Given the description of an element on the screen output the (x, y) to click on. 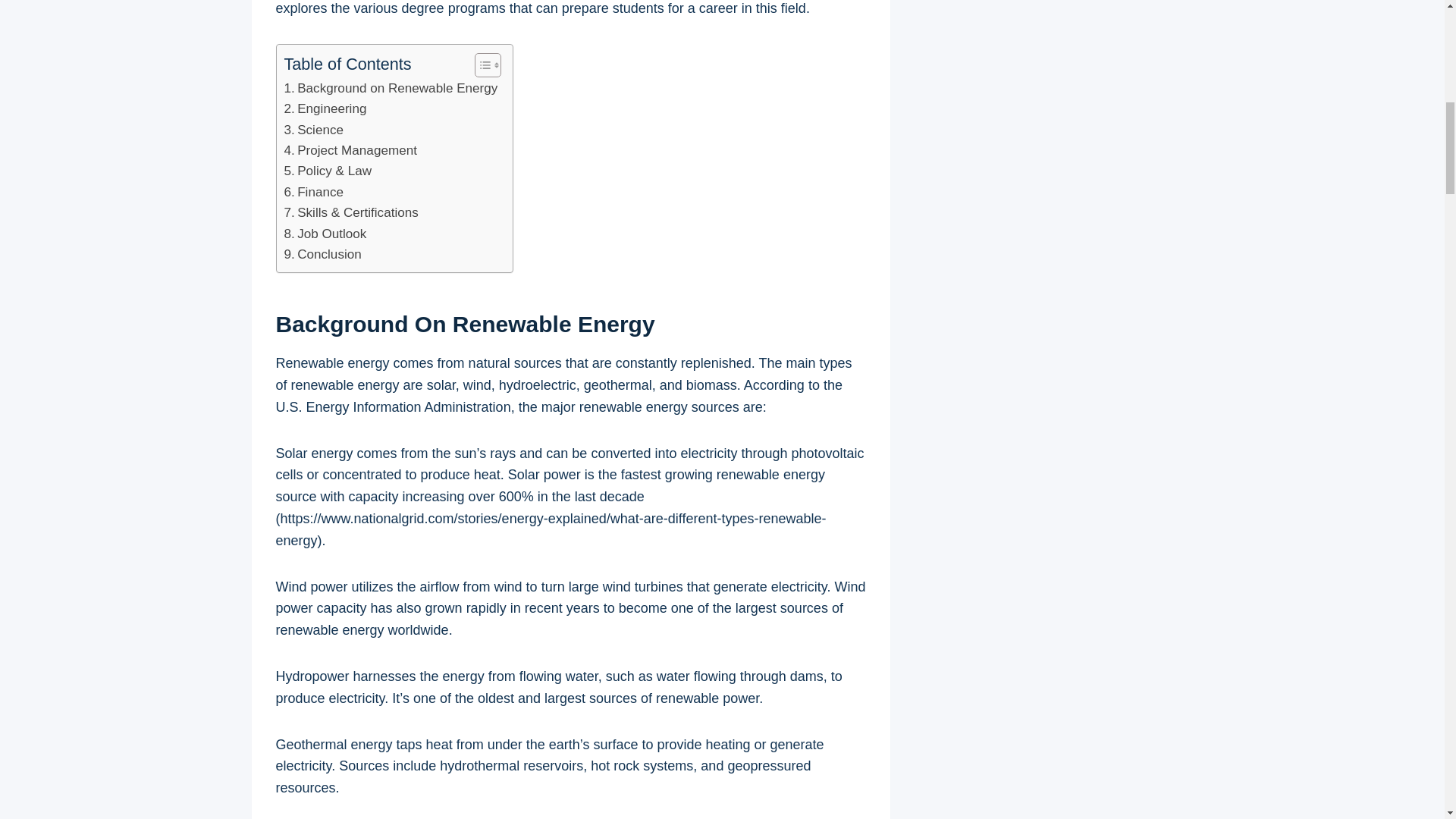
Conclusion (322, 254)
Project Management (349, 150)
Engineering (324, 108)
 Finance  (313, 191)
Finance (313, 191)
Science (313, 129)
Job Outlook (324, 233)
Engineering (324, 108)
Background on Renewable Energy (390, 87)
Job Outlook (324, 233)
Project Management (349, 150)
Science (313, 129)
Conclusion (322, 254)
Background on Renewable Energy (390, 87)
